Given the description of an element on the screen output the (x, y) to click on. 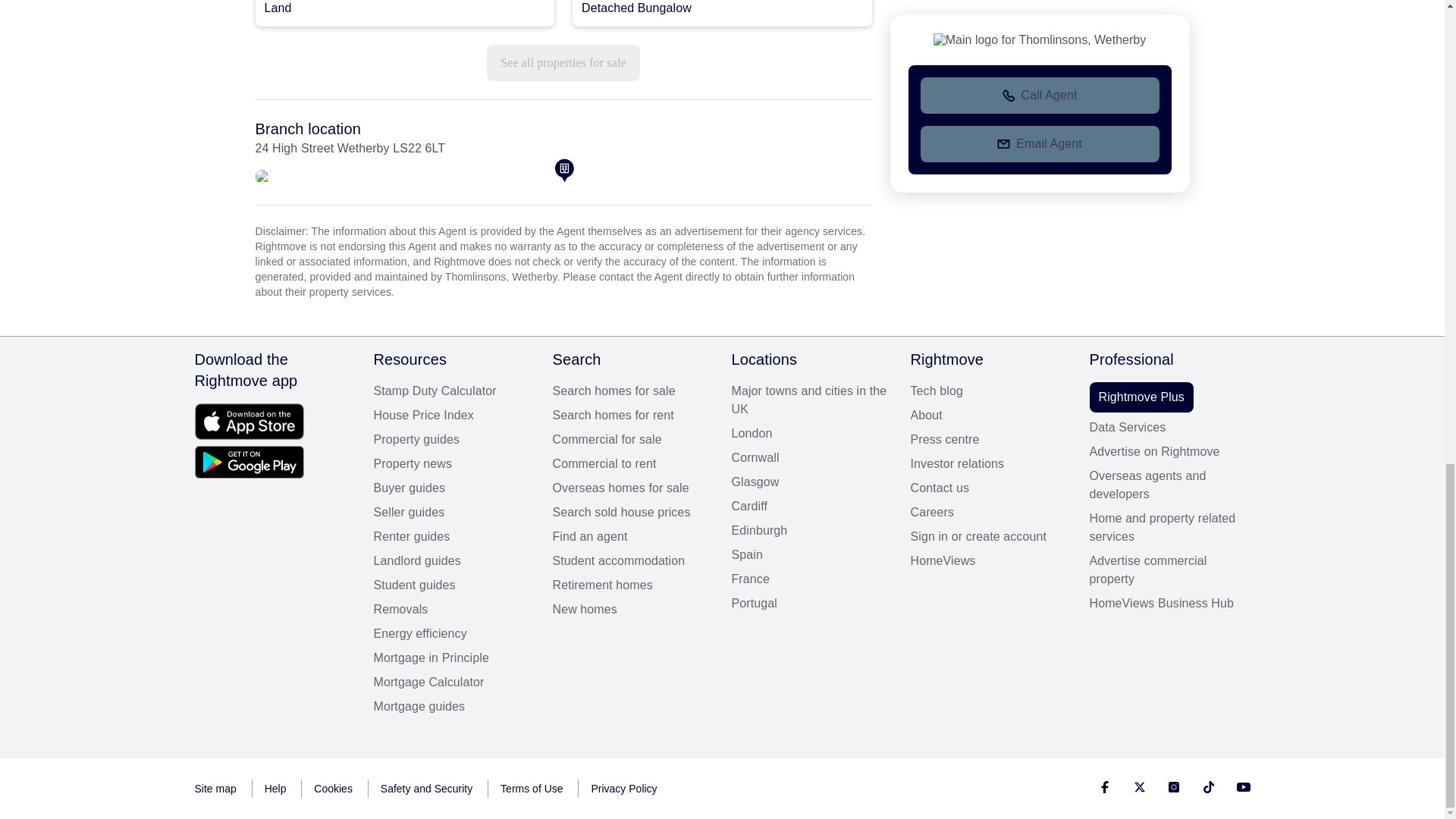
Search sold house prices (632, 512)
Search homes for sale (632, 391)
Seller guides (453, 512)
Stamp duty calculator (453, 391)
Commercial to rent (632, 464)
Mortgage guides (453, 706)
Mortgage calculator (453, 682)
Mortgage in Principle (453, 658)
Overseas homes for sale (632, 488)
Buyer guides (453, 488)
Property guides (453, 439)
Commercial for sale (632, 439)
Landlord guides (453, 561)
Student guides (453, 585)
Search homes for rent (632, 415)
